Given the description of an element on the screen output the (x, y) to click on. 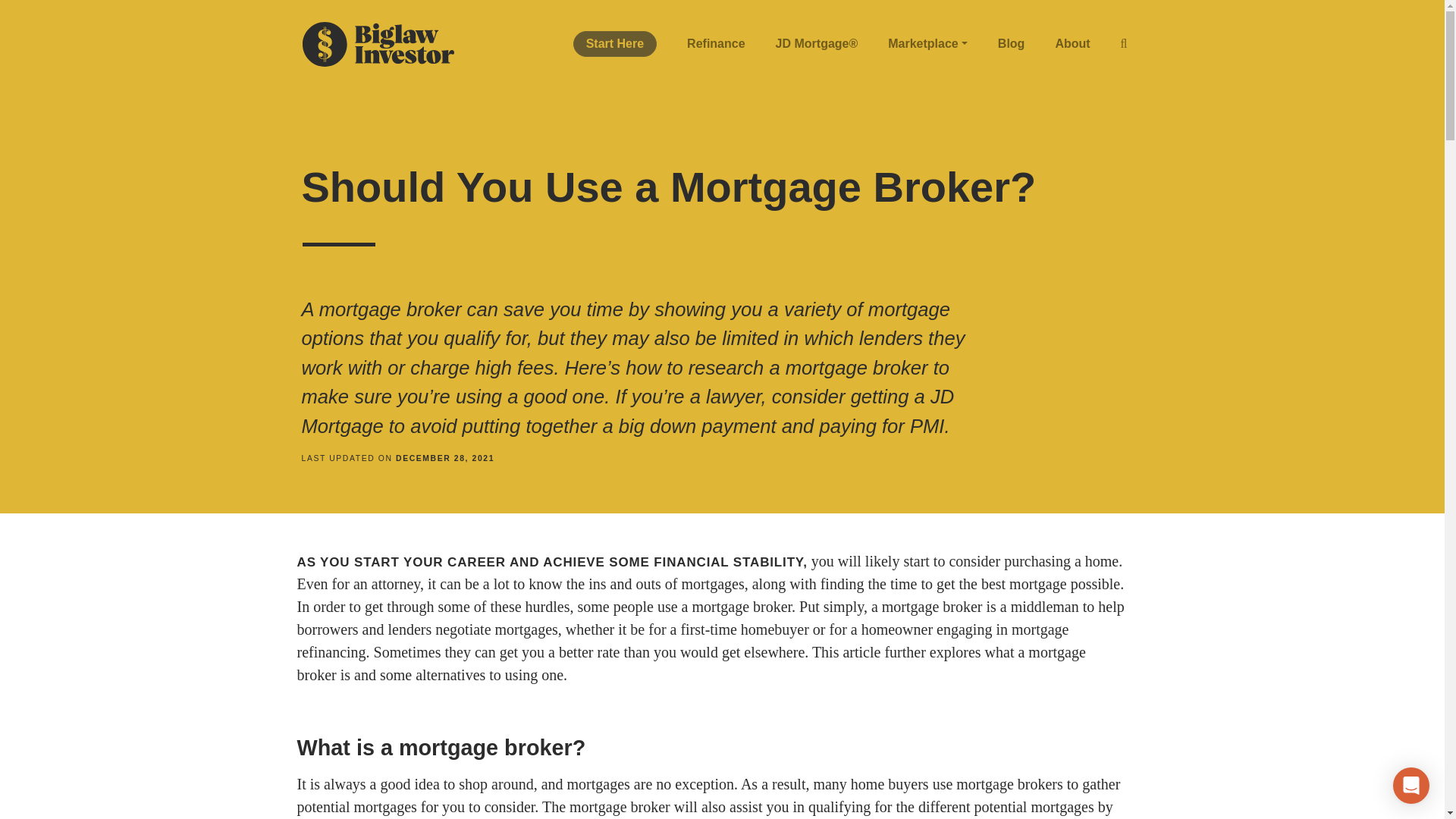
Start Here (614, 43)
Blog (1011, 43)
Refinance (715, 43)
Marketplace (927, 43)
About (1072, 43)
Refinance (715, 43)
About (1072, 43)
Blog (1011, 43)
Marketplace (927, 43)
